Given the description of an element on the screen output the (x, y) to click on. 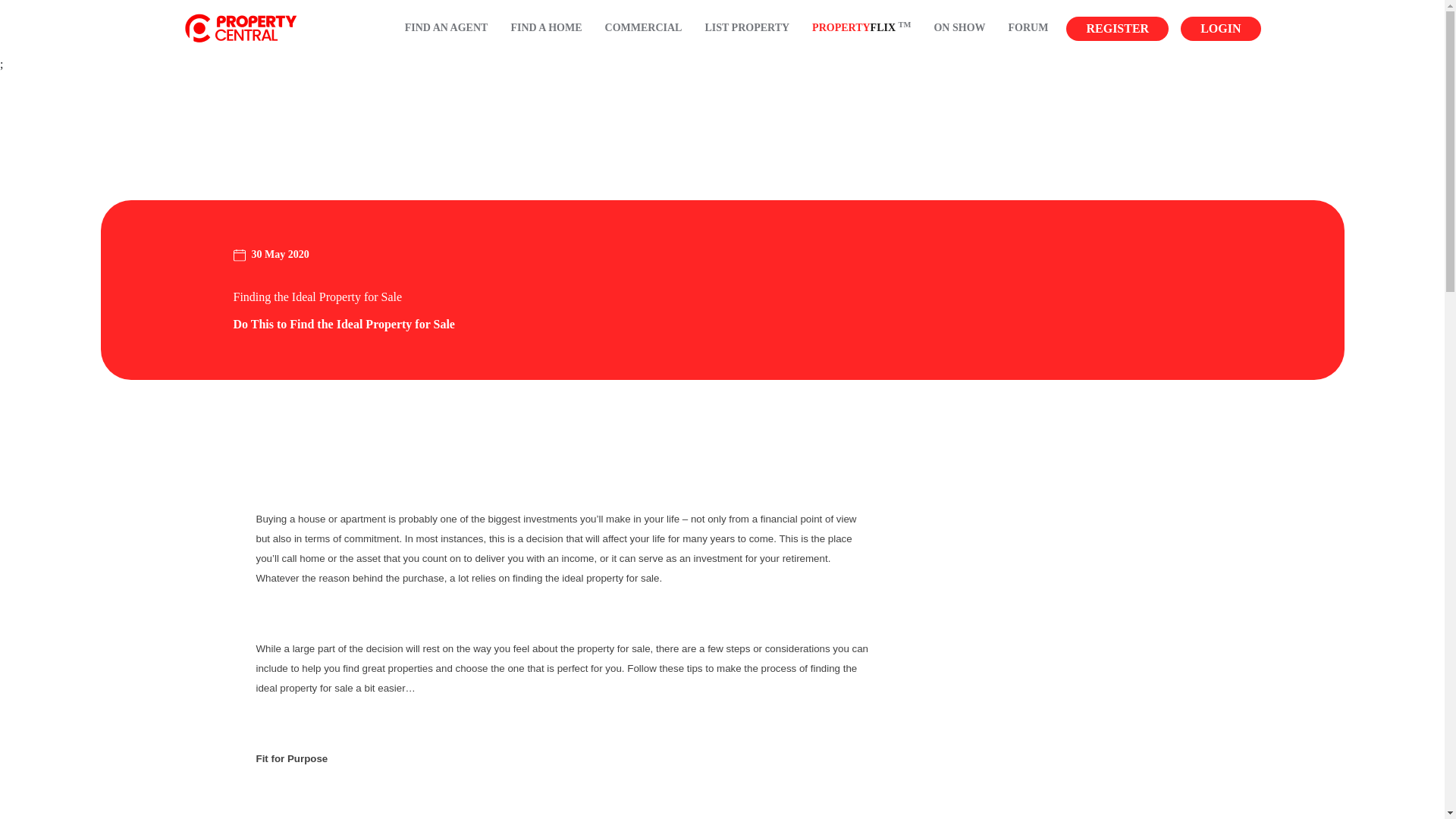
FIND A HOME (545, 28)
FIND AN AGENT (445, 28)
COMMERCIAL (643, 28)
